Given the description of an element on the screen output the (x, y) to click on. 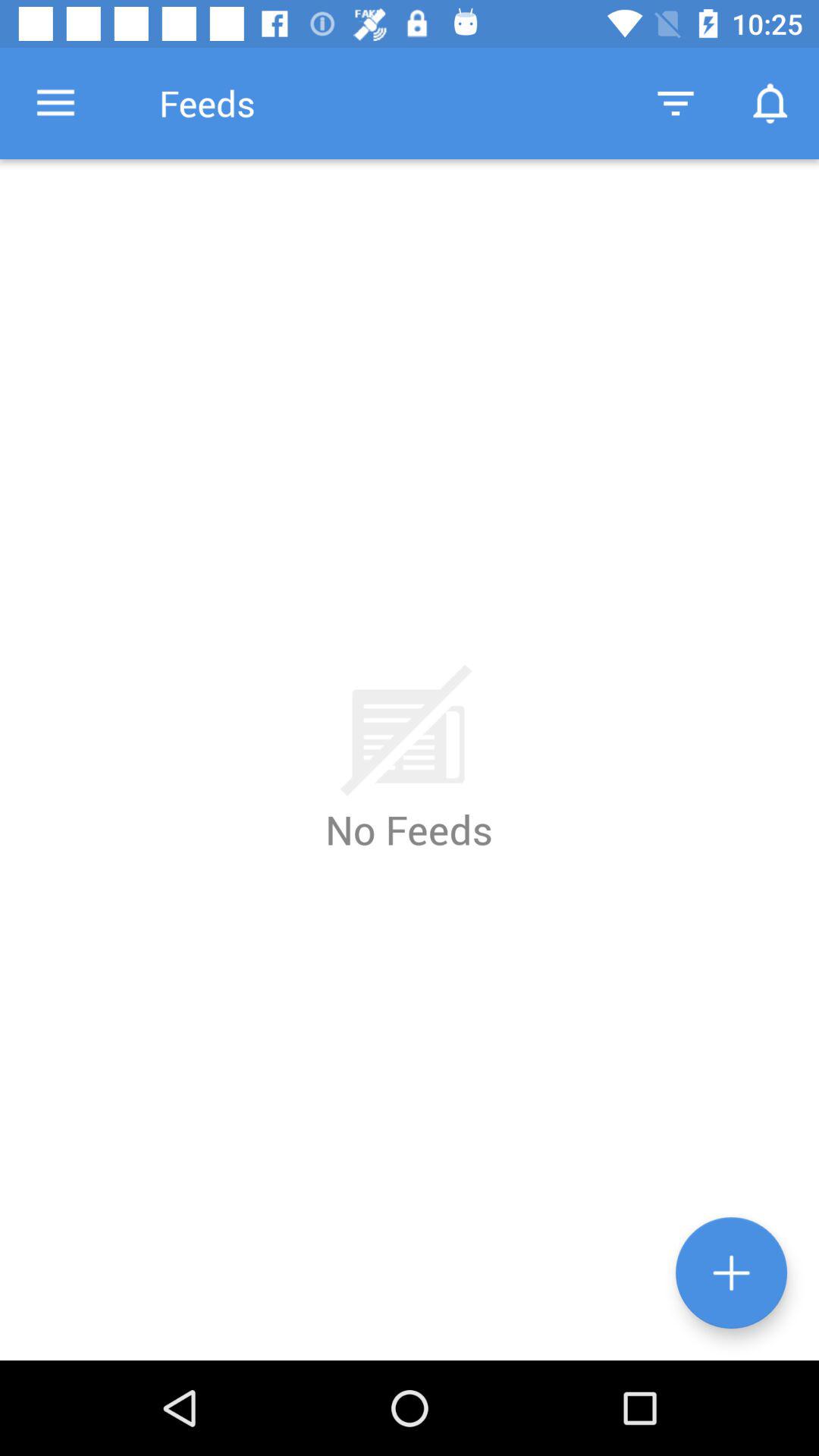
add feeds (731, 1272)
